Given the description of an element on the screen output the (x, y) to click on. 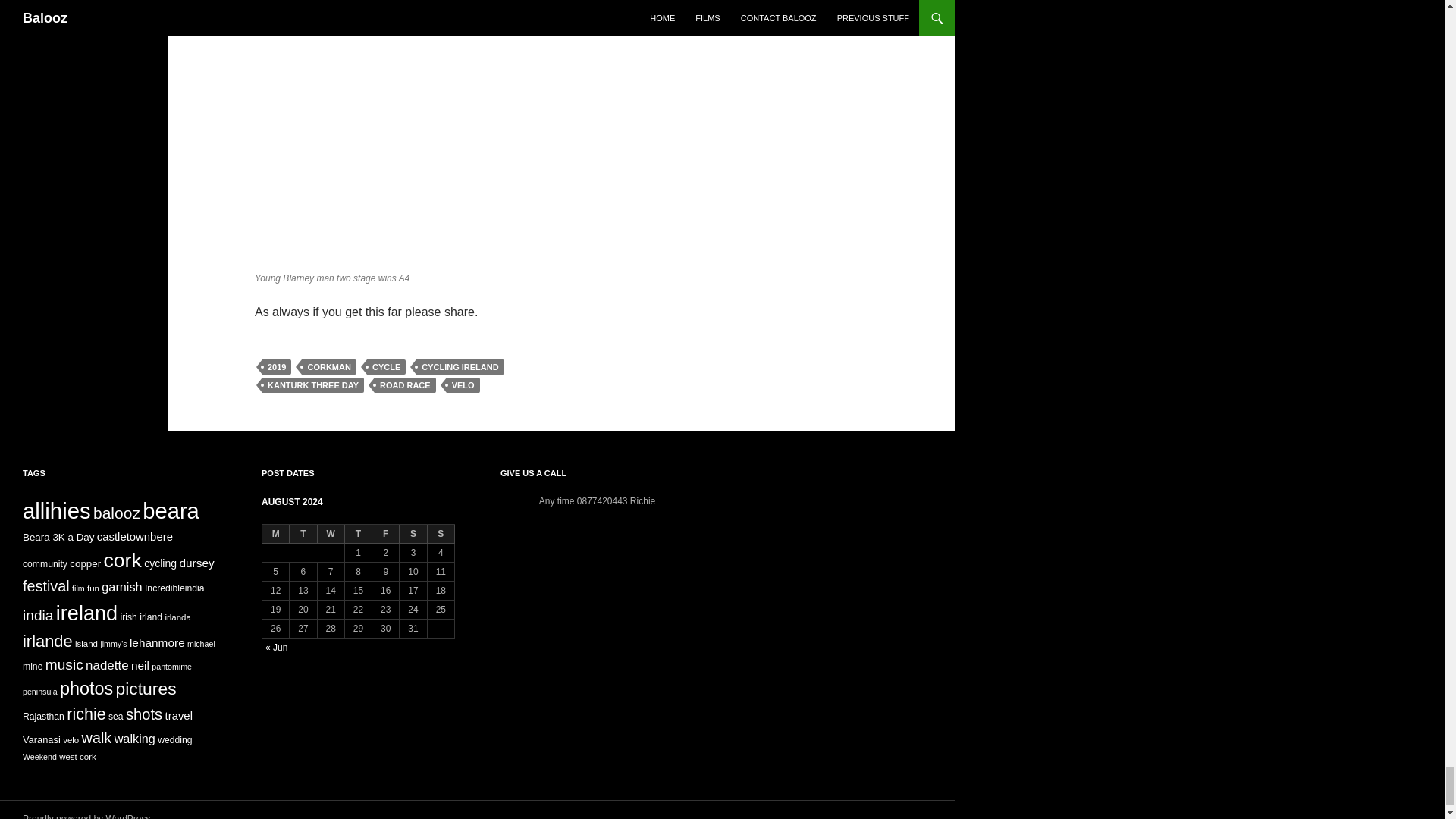
Monday (275, 533)
Saturday (412, 533)
Sunday (441, 533)
Wednesday (331, 533)
Friday (385, 533)
Thursday (358, 533)
Tuesday (303, 533)
